Given the description of an element on the screen output the (x, y) to click on. 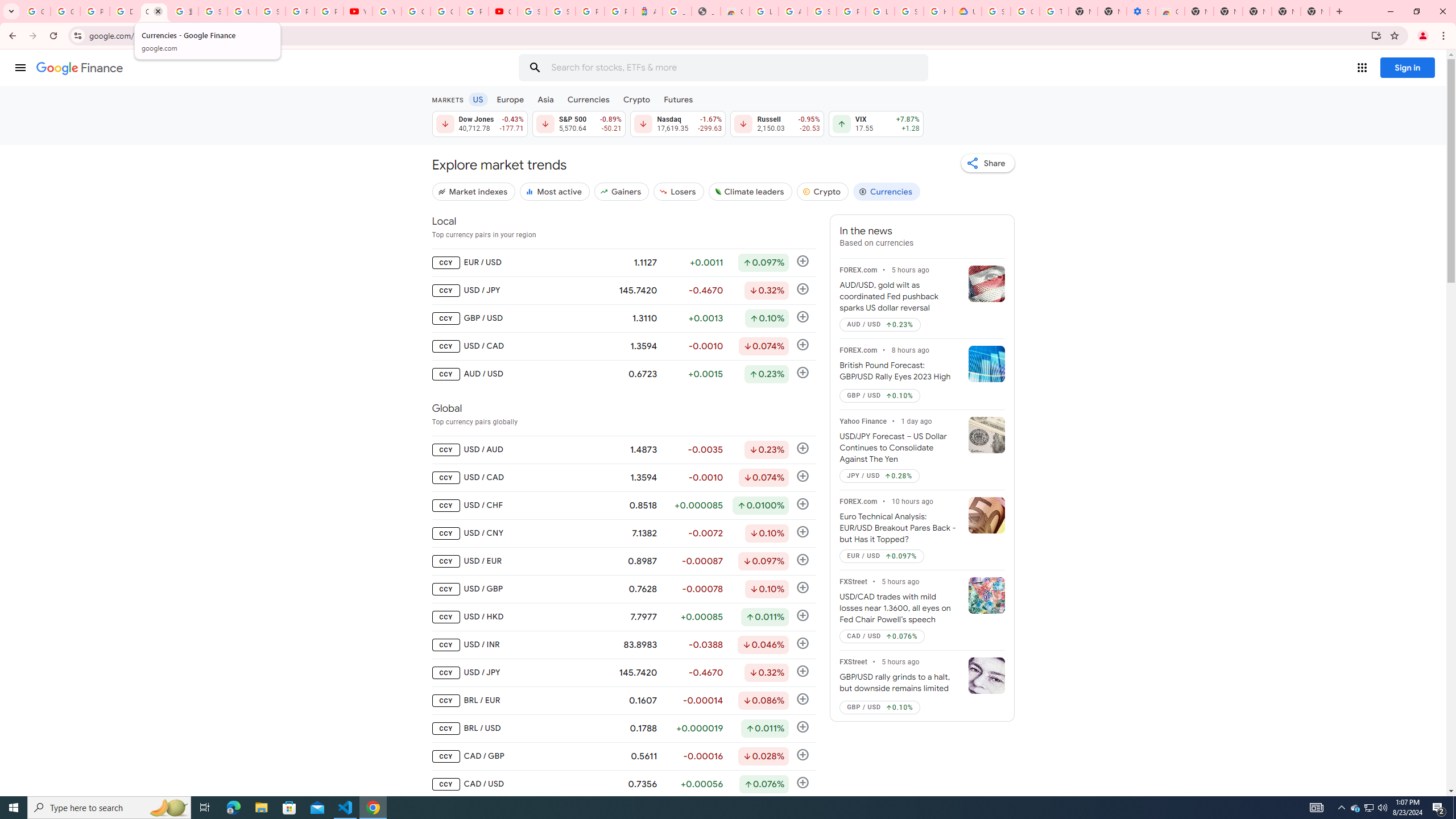
Google apps (1362, 67)
Most active (554, 191)
CCY AUD / USD 0.6723 +0.0015 Up by 0.22% Follow (623, 374)
GLeaf logo Climate leaders (749, 191)
Market indexes (472, 191)
Dow Jones 40,712.78 Down by 0.43% -177.71 (478, 123)
CCY USD / INR 83.8983 -0.0388 Down by 0.047% Follow (623, 644)
GLeaf logo (717, 191)
Create your Google Account (444, 11)
Google Workspace Admin Community (35, 11)
Follow (802, 782)
